Given the description of an element on the screen output the (x, y) to click on. 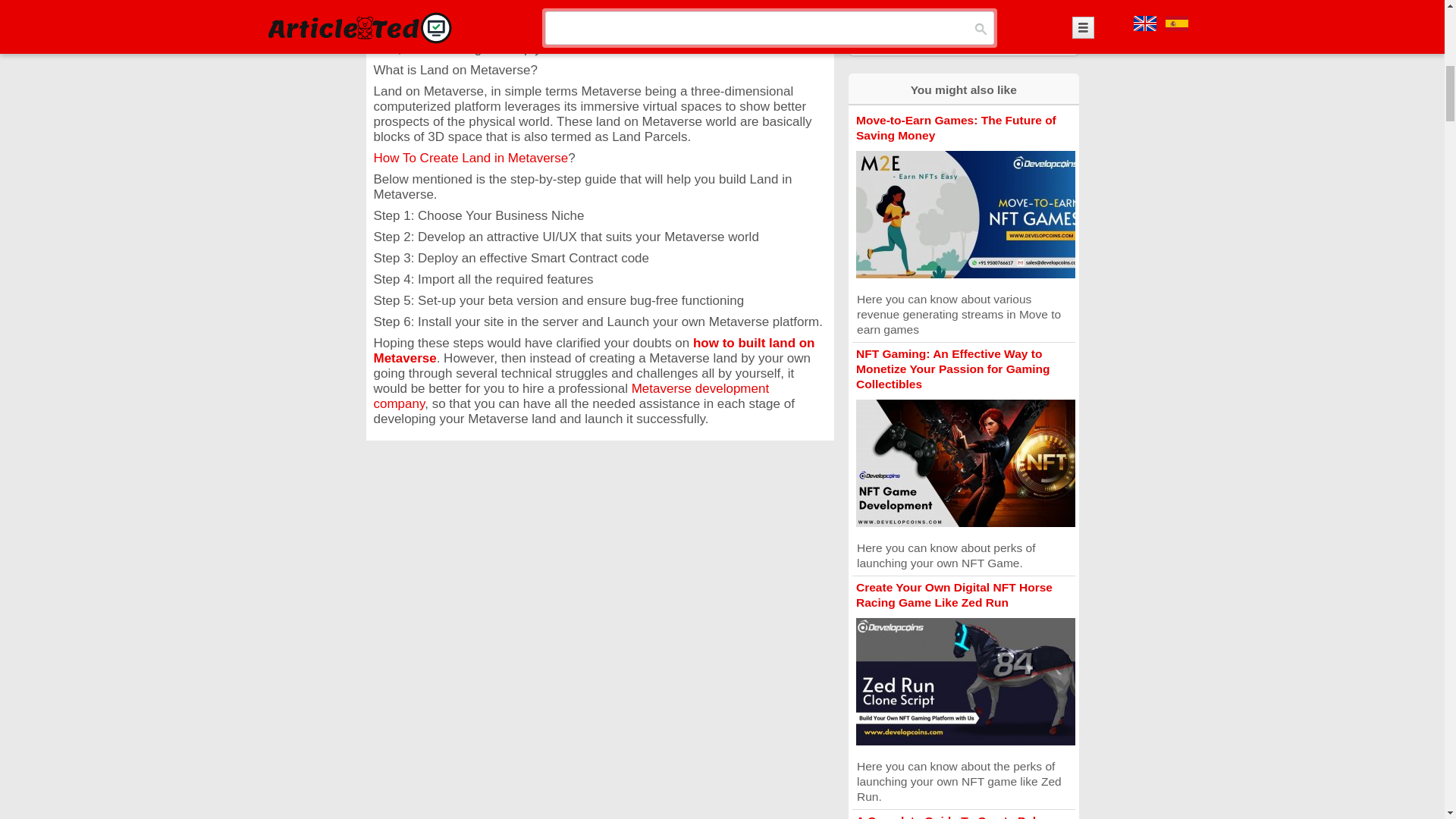
How To Create Land in Metaverse (469, 157)
Create Your Own Digital NFT Horse Racing Game Like Zed Run (954, 594)
Move-to-Earn Games: The Future of Saving Money (956, 127)
Metaverse development company (570, 396)
A Complete Guide To Create Polygon Token (960, 816)
how to built land on Metaverse (592, 350)
